Given the description of an element on the screen output the (x, y) to click on. 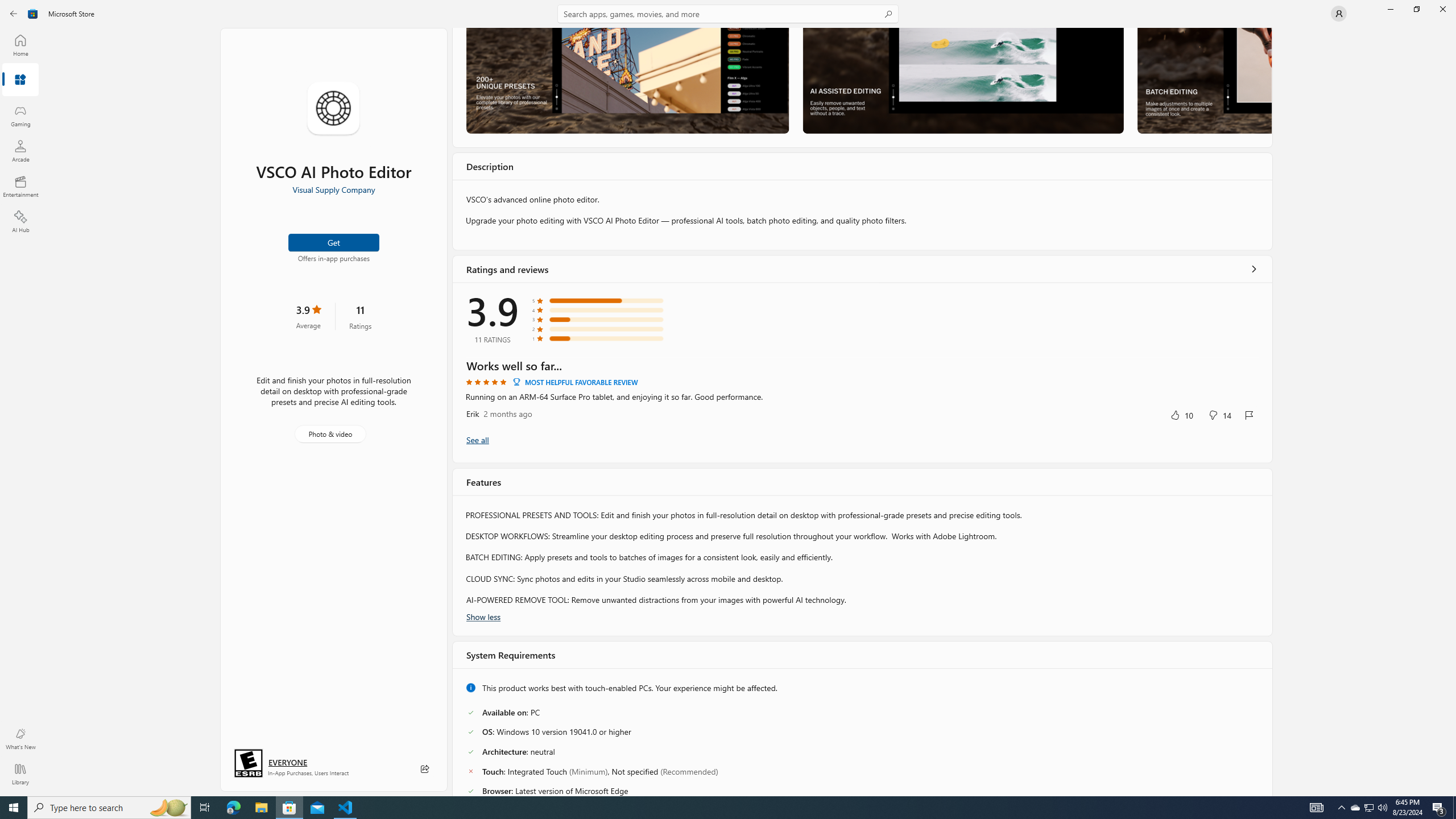
Age rating: EVERYONE. Click for more information. (287, 762)
Visual Supply Company (333, 189)
No, this was not helpful. 14 votes. (1219, 414)
Screenshot 1 (627, 80)
Get (334, 241)
AutomationID: NavigationControl (728, 398)
Report review (1248, 415)
